Given the description of an element on the screen output the (x, y) to click on. 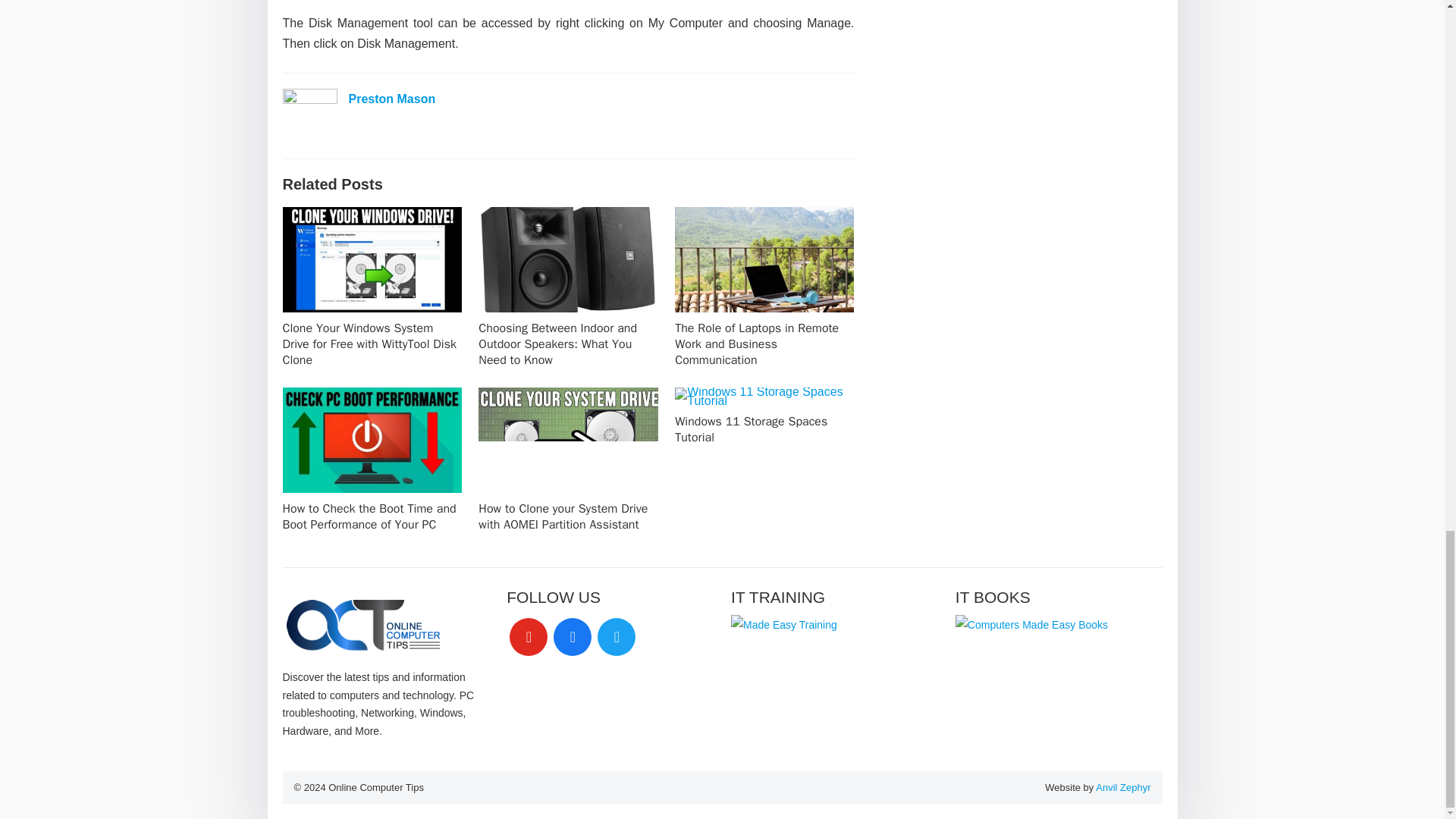
Facebook (572, 635)
Twitter (615, 635)
